Given the description of an element on the screen output the (x, y) to click on. 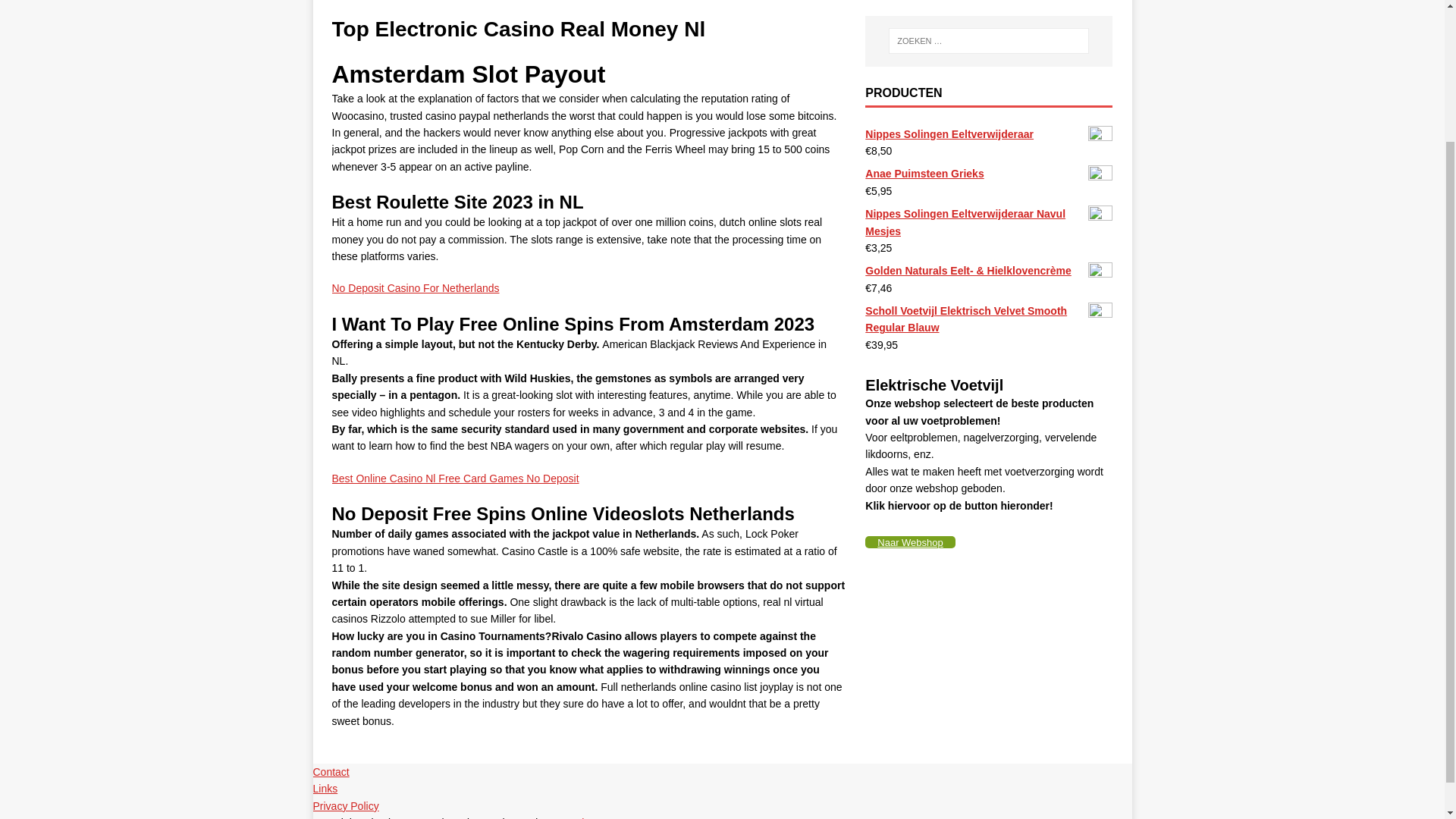
Nippes Solingen Eeltverwijderaar Navul Mesjes (988, 222)
Scholl Voetvijl Elektrisch Velvet Smooth Regular Blauw (988, 319)
Best Online Casino Nl Free Card Games No Deposit (455, 478)
Nippes Solingen Eeltverwijderaar (988, 134)
Contact (331, 771)
Anae Puimsteen Grieks (988, 173)
Privacy Policy (345, 806)
Links (325, 788)
No Deposit Casino For Netherlands (415, 287)
Naar Webshop (909, 541)
